Given the description of an element on the screen output the (x, y) to click on. 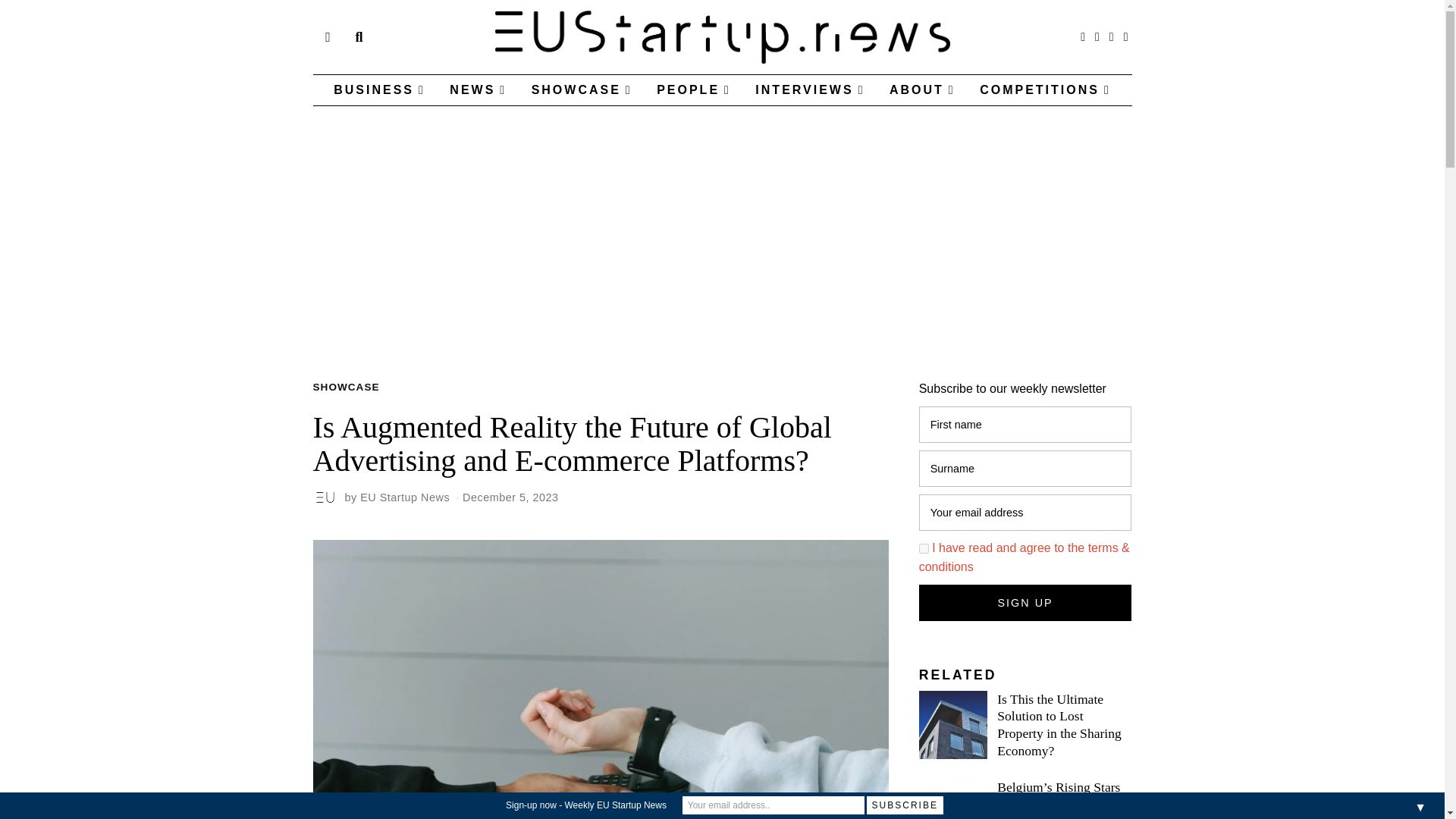
NEWS (477, 90)
COMPETITIONS (1045, 90)
PEOPLE (693, 90)
Subscribe (904, 805)
EU Startup News (404, 497)
SHOWCASE (345, 387)
SHOWCASE (582, 90)
ABOUT (922, 90)
INTERVIEWS (809, 90)
